Given the description of an element on the screen output the (x, y) to click on. 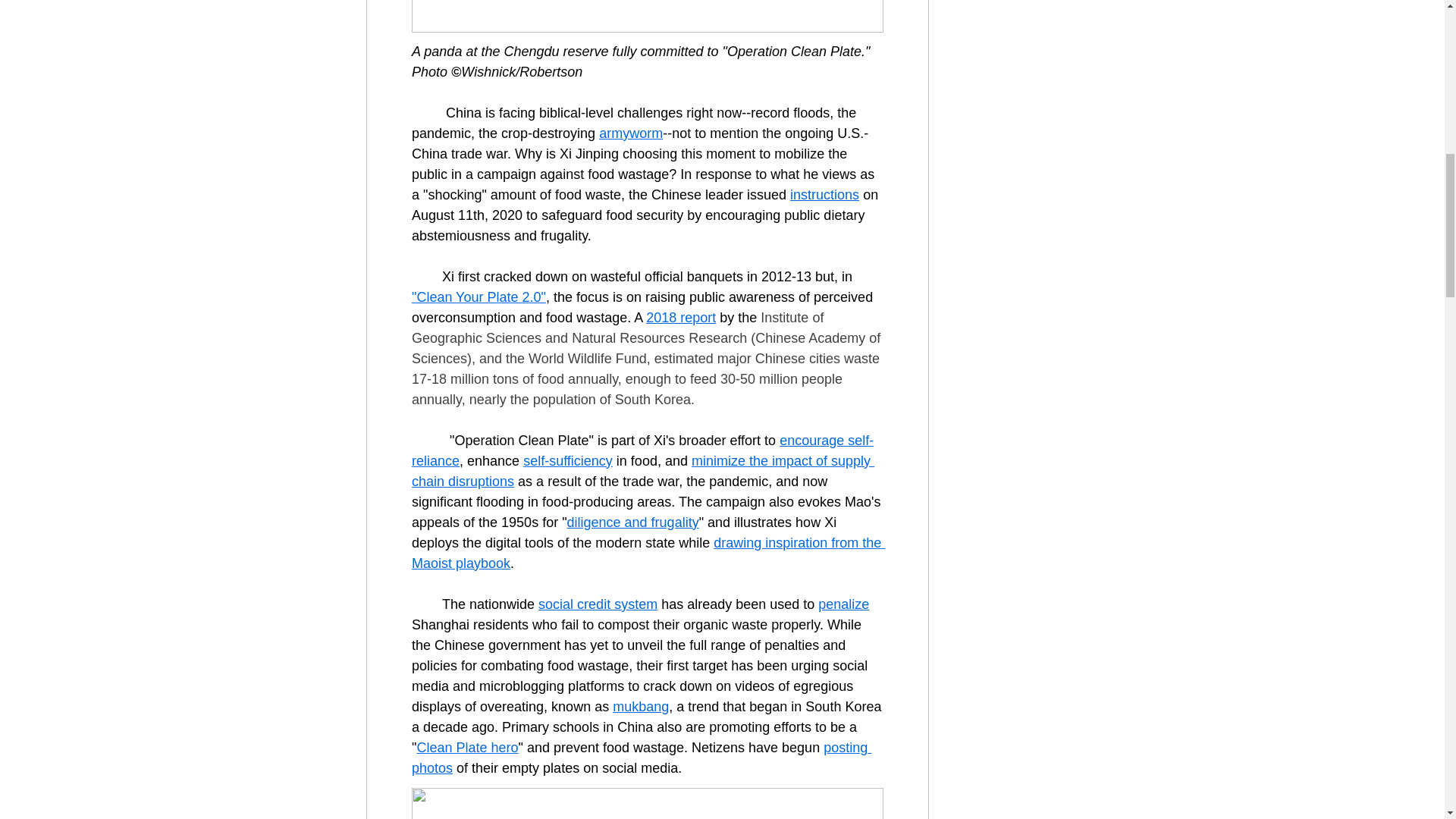
penalize (843, 604)
self-sufficiency (567, 460)
social credit system (598, 604)
"Clean Your Plate 2.0" (477, 296)
lean Plate hero (472, 747)
2018 report (681, 317)
minimize the impact of supply chain disruptions (641, 470)
ukban (642, 706)
posting photos (640, 757)
armyworm (630, 133)
